Given the description of an element on the screen output the (x, y) to click on. 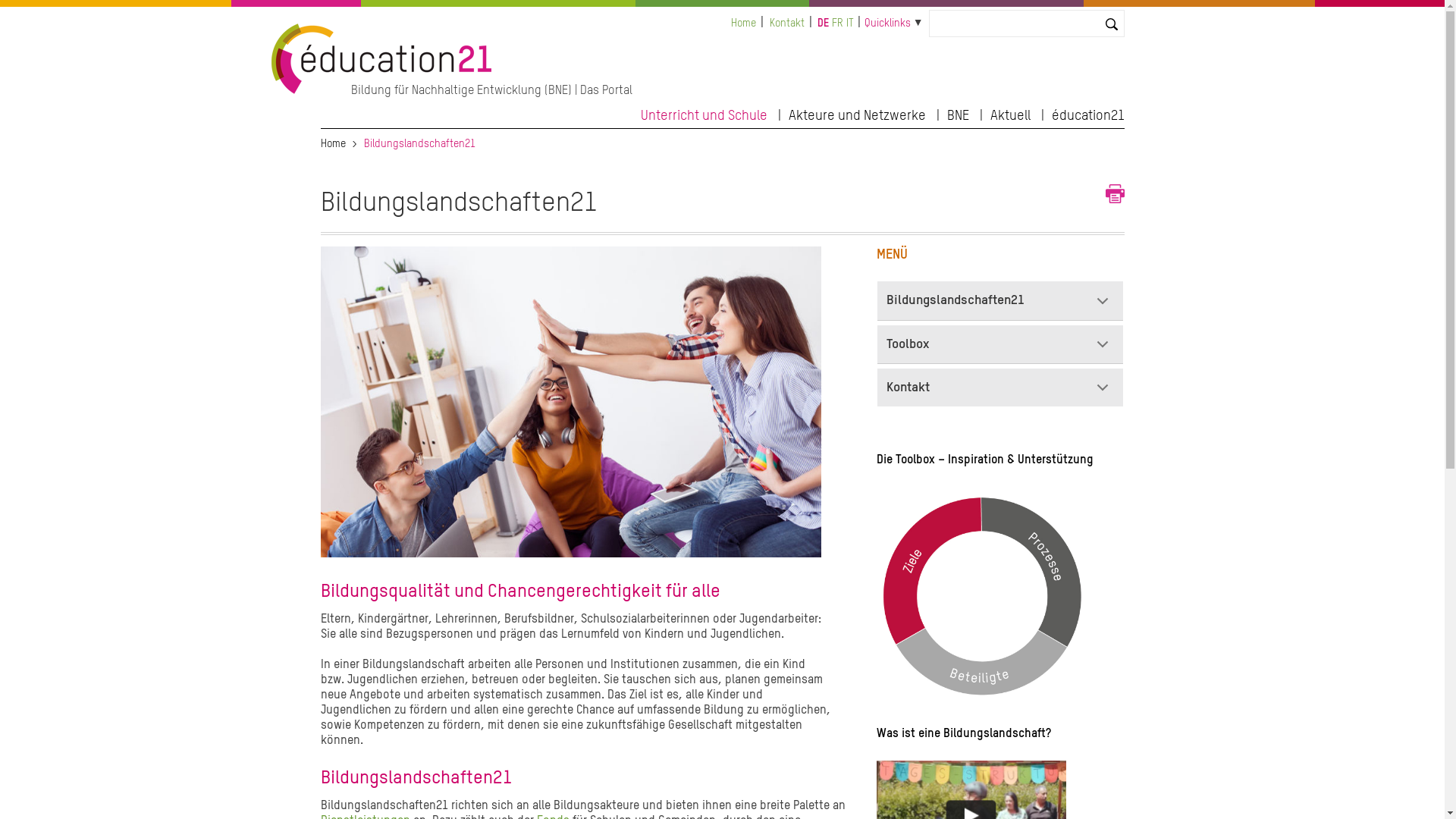
Home Element type: text (332, 143)
Home Element type: hover (381, 90)
Kontakt Element type: text (786, 23)
DE Element type: text (822, 23)
BNE Element type: text (957, 113)
FR Element type: text (837, 23)
IT Element type: text (849, 23)
Bildungslandschaften21 Element type: text (1000, 300)
Toolbox Element type: text (1000, 344)
Suchen Element type: text (26, 13)
Unterricht und Schule Element type: text (703, 113)
Quicklinks Element type: text (887, 22)
Aktuell Element type: text (1010, 113)
Akteure und Netzwerke Element type: text (856, 113)
Home Element type: text (743, 23)
Kontakt Element type: text (1000, 387)
